Given the description of an element on the screen output the (x, y) to click on. 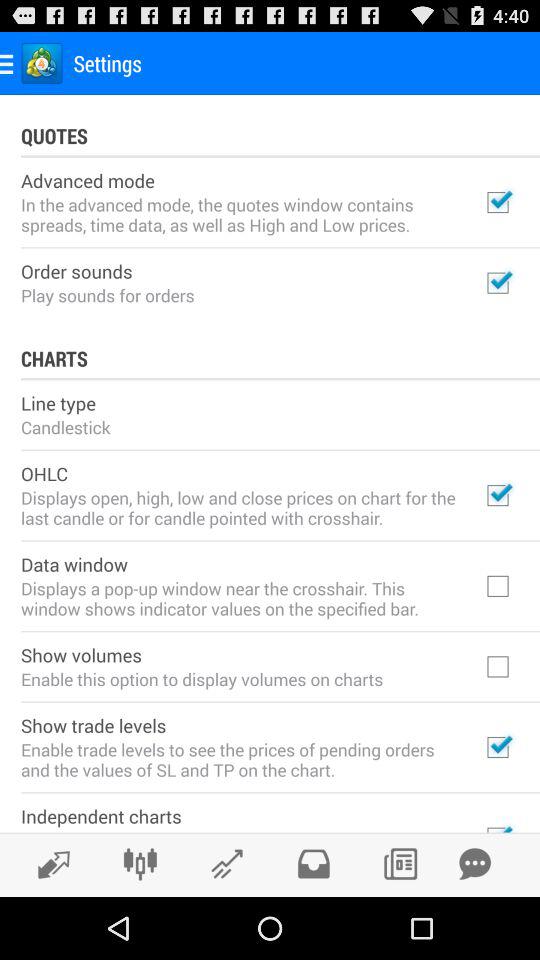
display trends over time (48, 864)
